Given the description of an element on the screen output the (x, y) to click on. 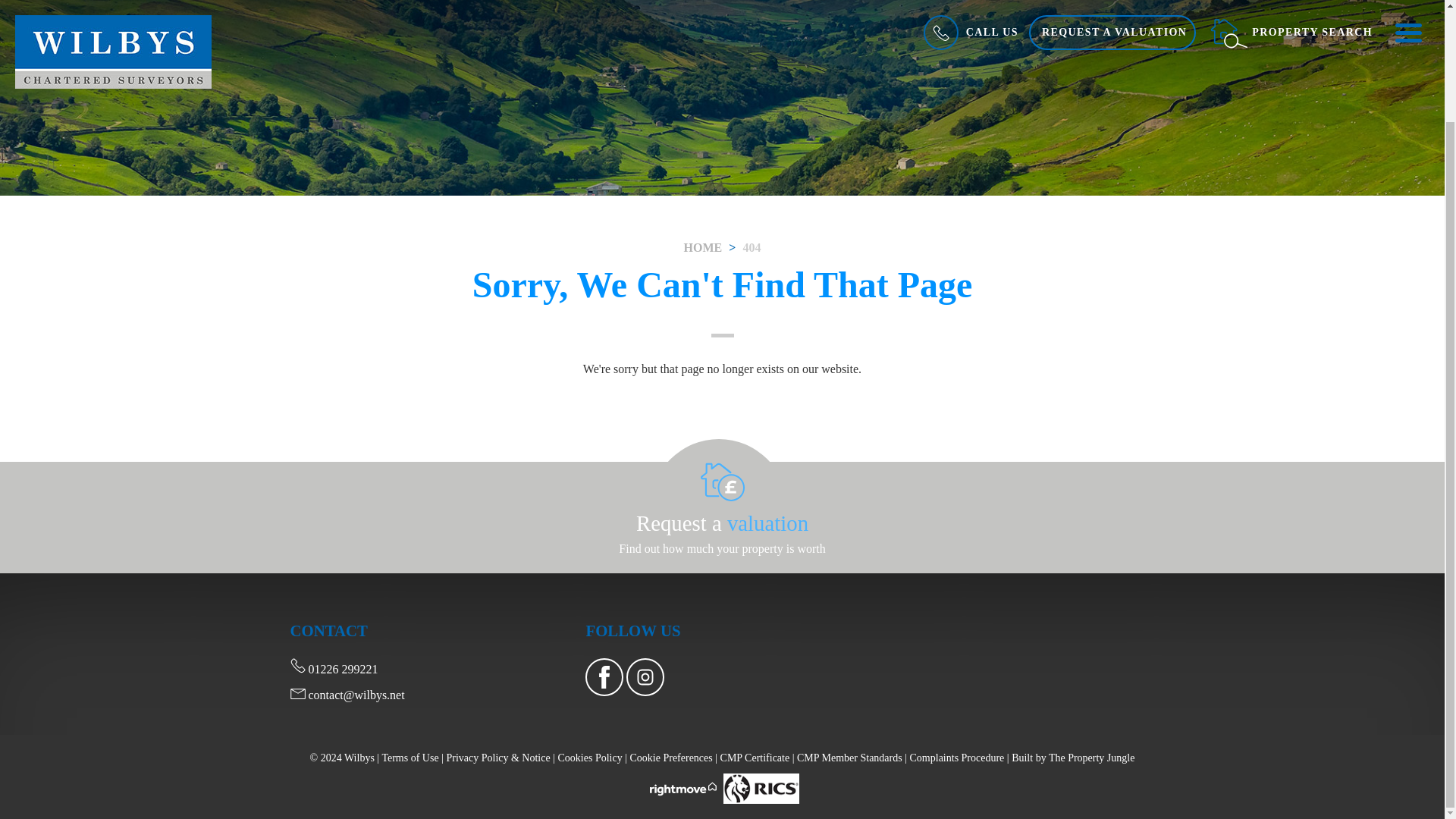
HOME (703, 246)
Cookies Policy (590, 757)
Cookie Preferences (669, 757)
Complaints Procedure (957, 757)
CMP Member Standards (849, 757)
404 (751, 246)
Built by The Property Jungle (1072, 757)
01226 299221 (333, 668)
Terms of Use (409, 757)
Privacy Policy (497, 757)
